Given the description of an element on the screen output the (x, y) to click on. 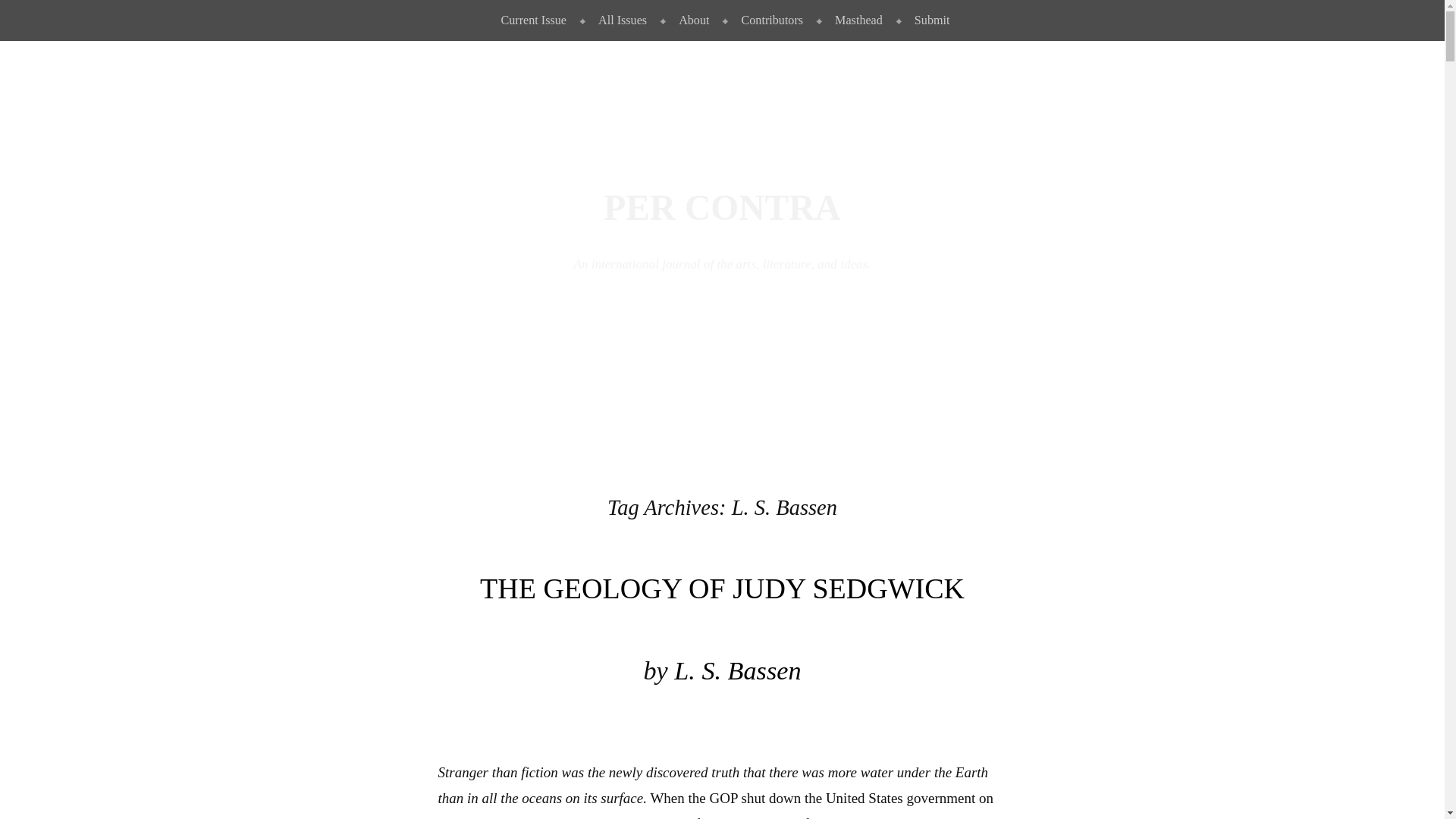
Current Issue (530, 20)
Search (34, 16)
L. S. Bassen (737, 670)
About (690, 20)
THE GEOLOGY OF JUDY SEDGWICK (721, 588)
Skip to content (37, 11)
Per Contra (722, 207)
Contributors (768, 20)
PER CONTRA (722, 207)
Submit (928, 20)
